Given the description of an element on the screen output the (x, y) to click on. 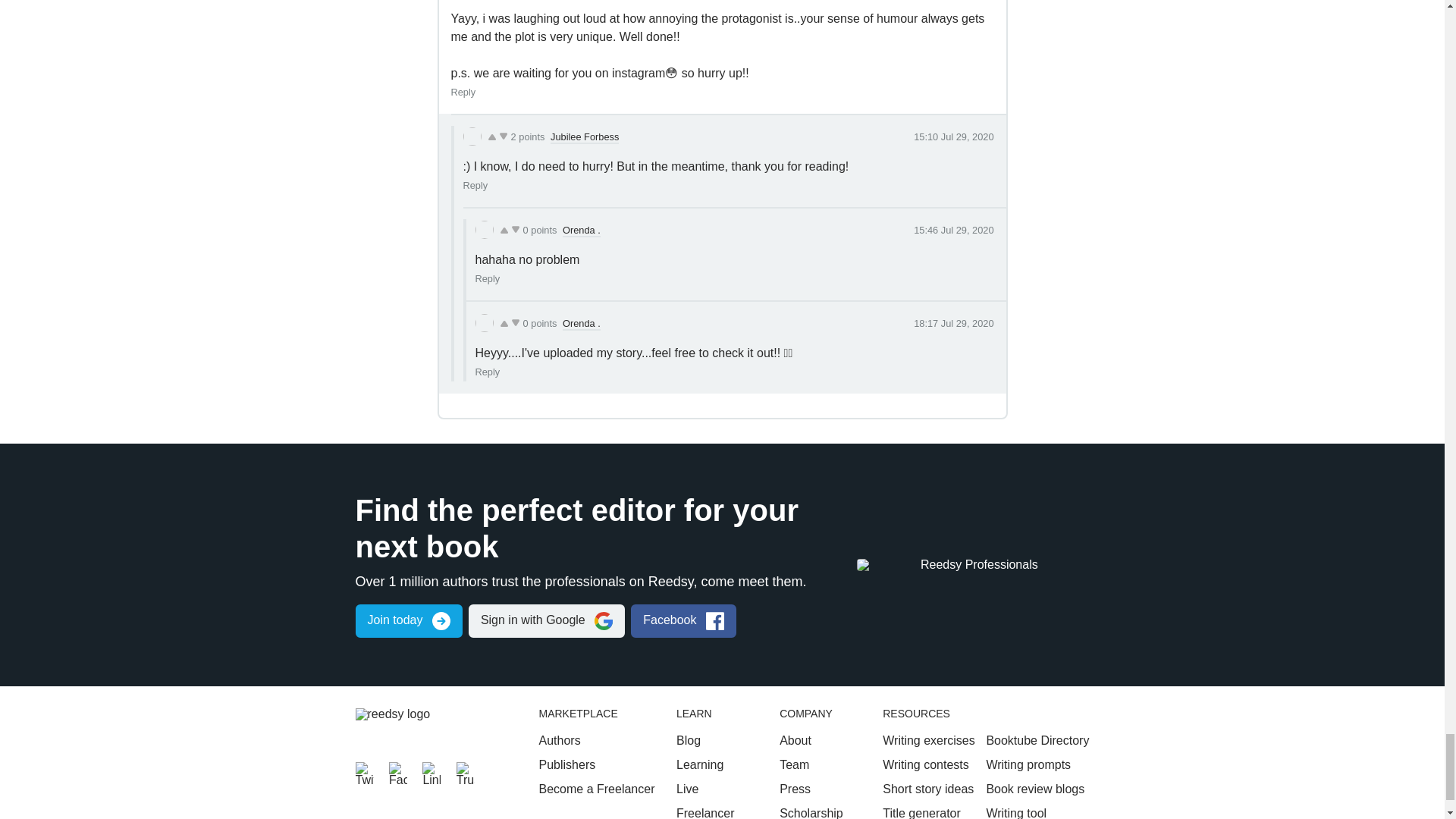
Sign up (408, 621)
Twitter (363, 771)
Sign in with Facebook (683, 621)
Sign in with Google (546, 621)
Trustpilot (465, 771)
Facebook (397, 771)
LinkedIn (431, 771)
